Given the description of an element on the screen output the (x, y) to click on. 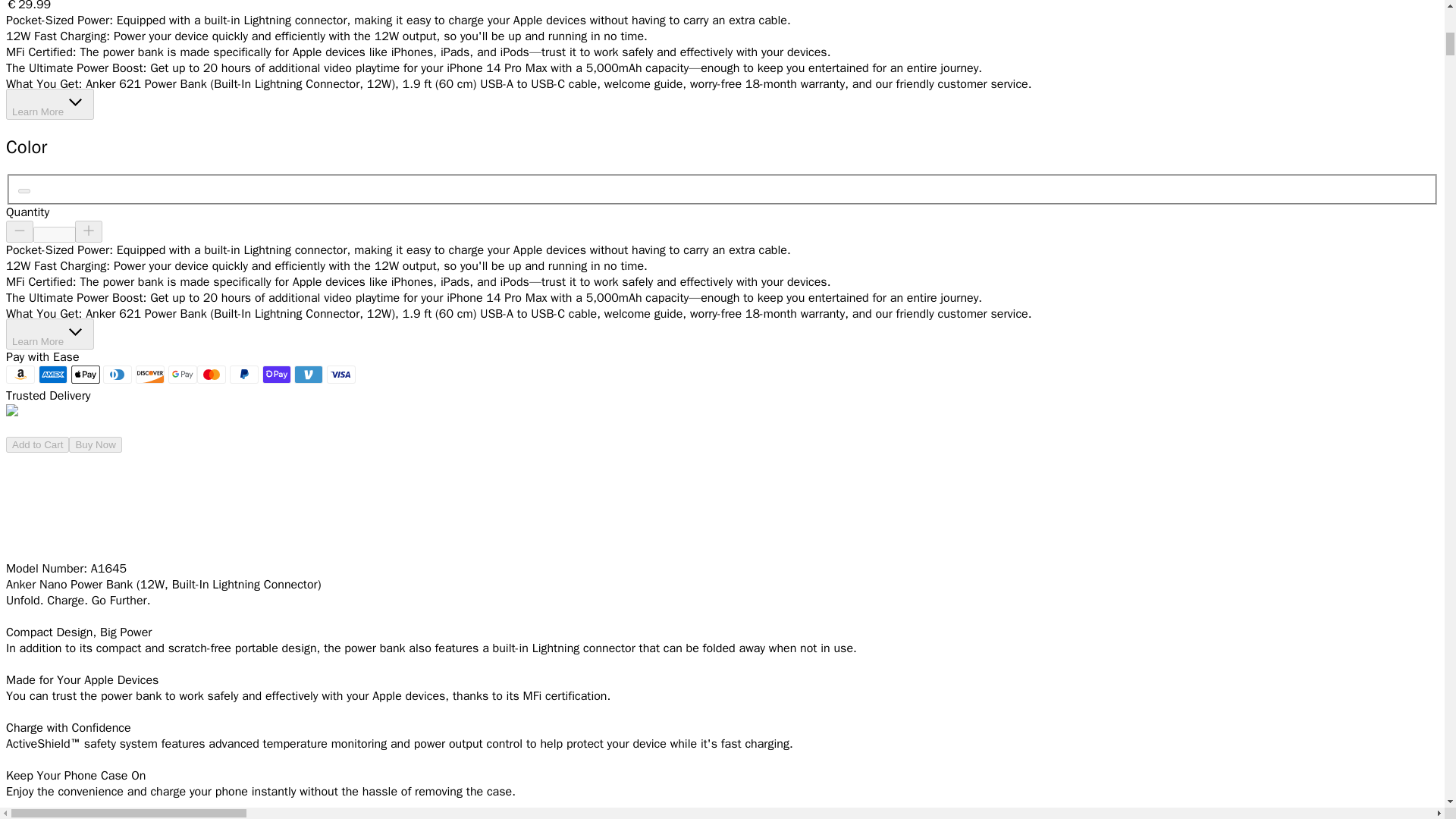
Add to Cart (36, 444)
American Express (52, 374)
Buy Now (94, 444)
Apple Pay (85, 374)
Learn More (49, 103)
Learn More (49, 333)
Amazon (19, 374)
